Given the description of an element on the screen output the (x, y) to click on. 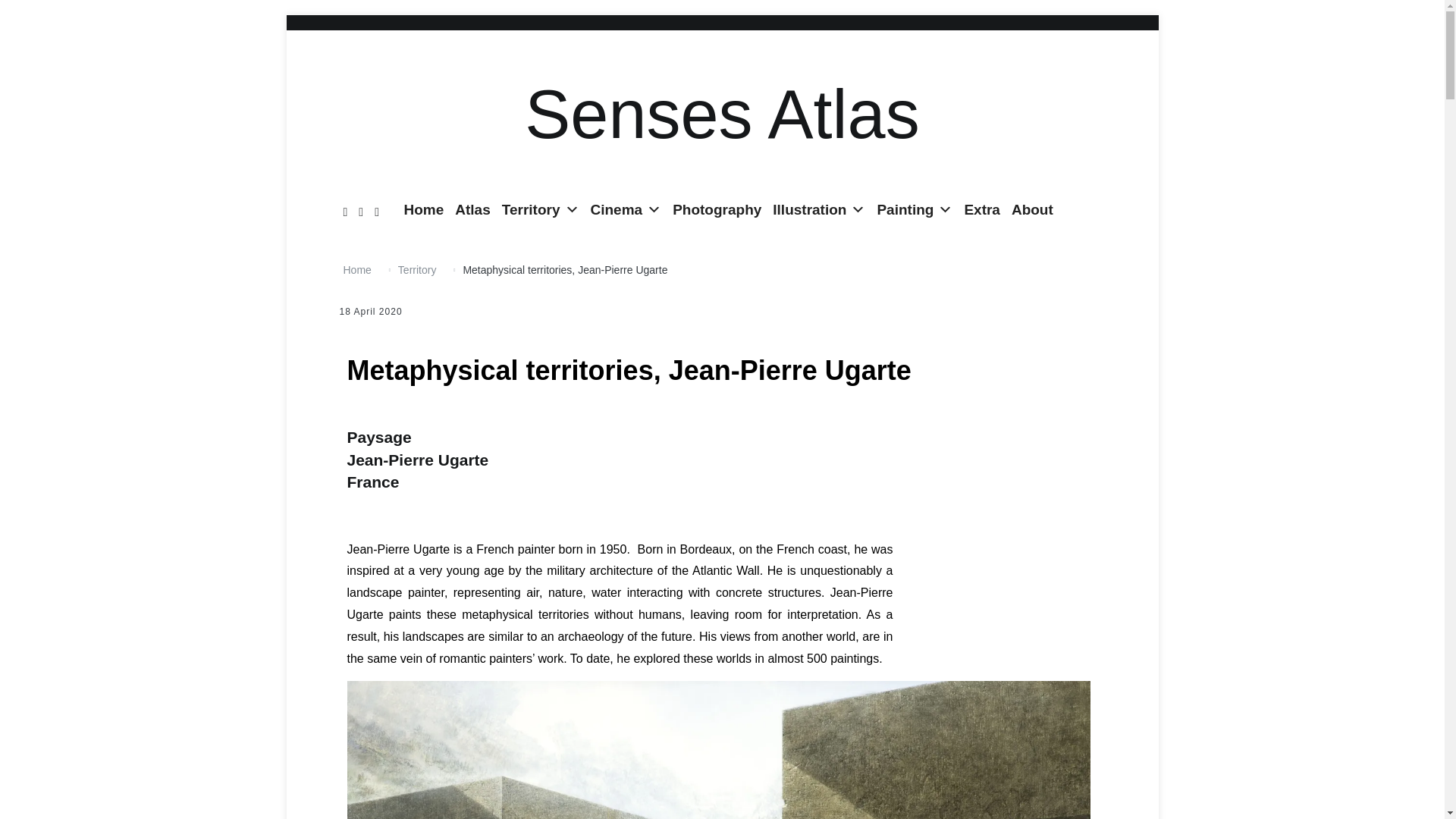
Home (424, 209)
Territory (540, 209)
Cinema (625, 209)
Painting (914, 209)
Photography (716, 209)
Atlas (472, 209)
Senses Atlas (721, 114)
Illustration (818, 209)
